Given the description of an element on the screen output the (x, y) to click on. 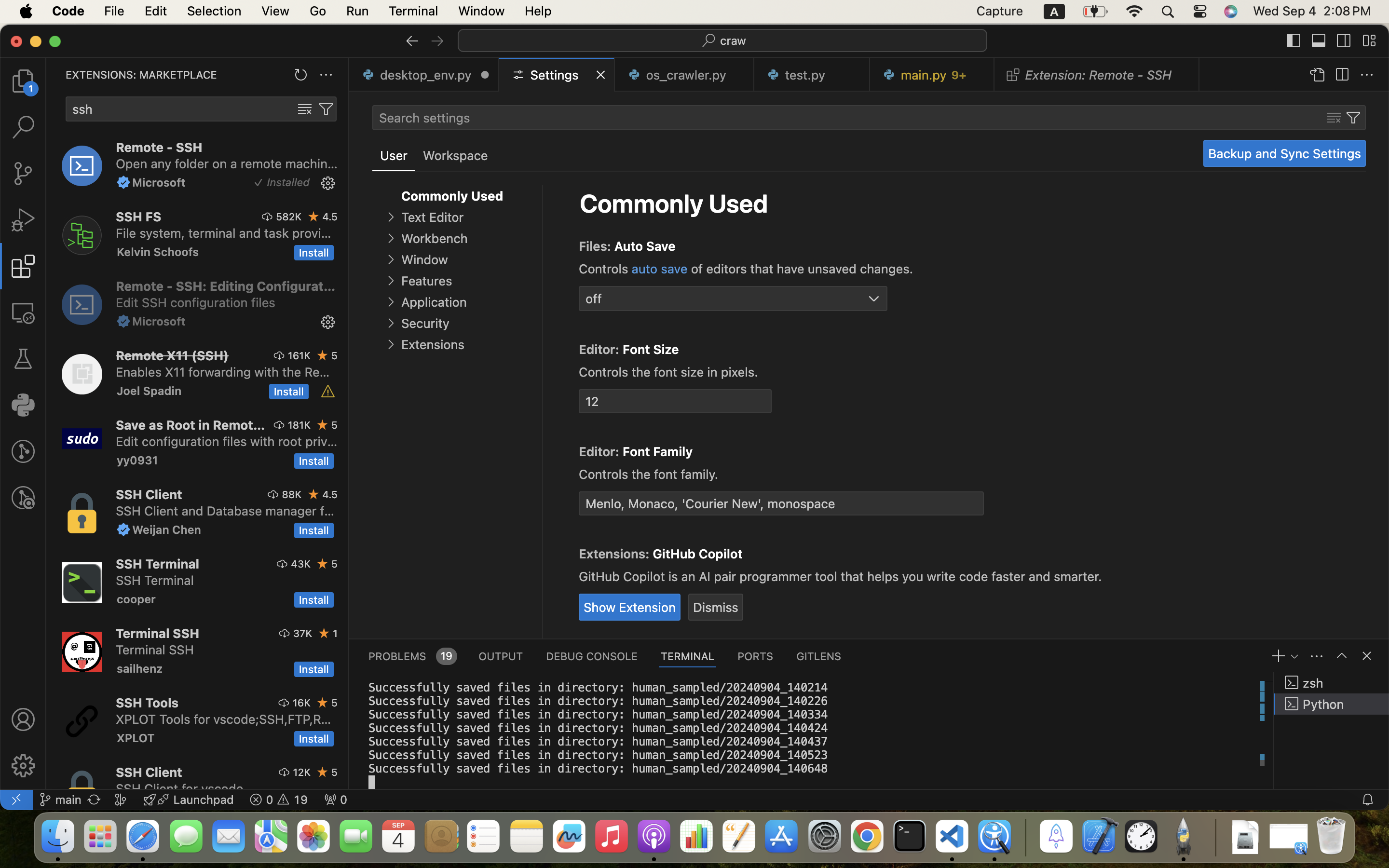
0 os_crawler.py   Element type: AXRadioButton (684, 74)
 Element type: AXButton (412, 40)
Python  Element type: AXGroup (1331, 703)
 Element type: AXButton (437, 40)
 Element type: AXStaticText (554, 243)
